Given the description of an element on the screen output the (x, y) to click on. 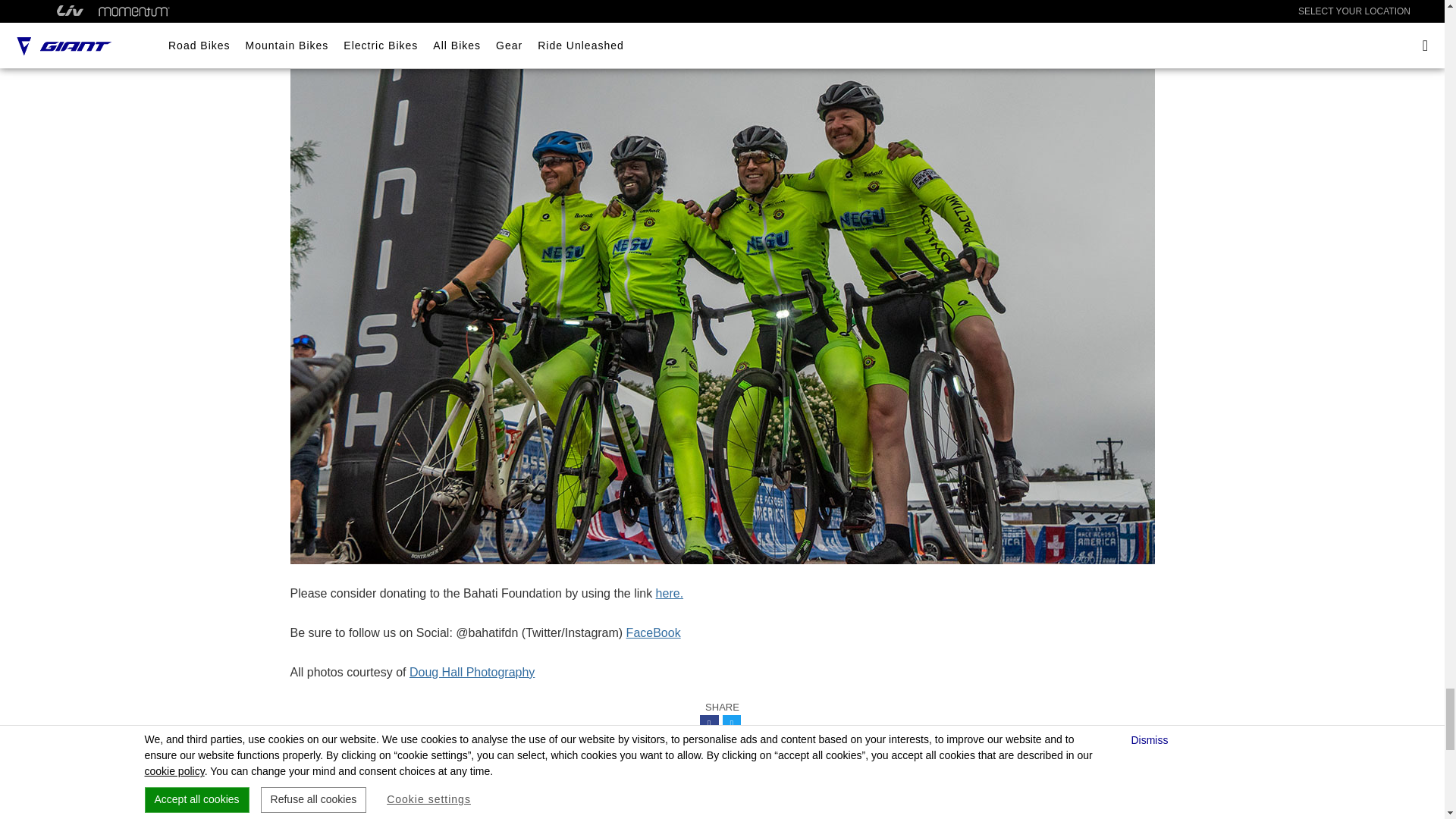
Doug Hall Photography (471, 671)
FaceBook (653, 632)
here. (669, 593)
